Given the description of an element on the screen output the (x, y) to click on. 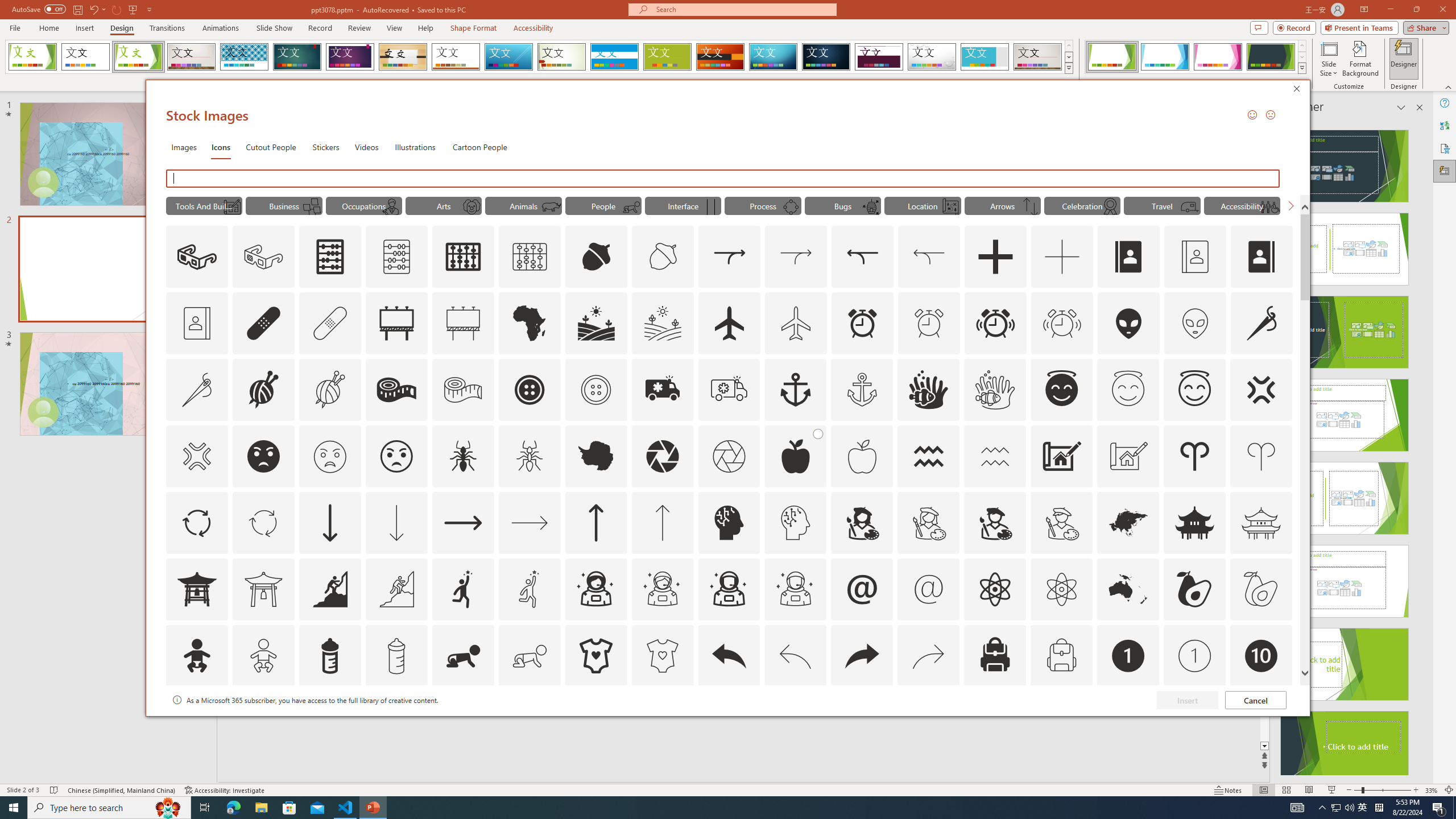
AutomationID: Icons_Architecture (1061, 455)
AutomationID: Icons_Badge6 (795, 721)
AutomationID: Icons_Back_RTL_M (928, 655)
AutomationID: Icons_ArrowRight (462, 522)
AutomationID: Icons_AngryFace_M (329, 455)
AutomationID: Icons_Acquisition_LTR (729, 256)
AutomationID: Icons_ArtificialIntelligence (729, 522)
Ion (296, 56)
"People" Icons. (603, 205)
